Given the description of an element on the screen output the (x, y) to click on. 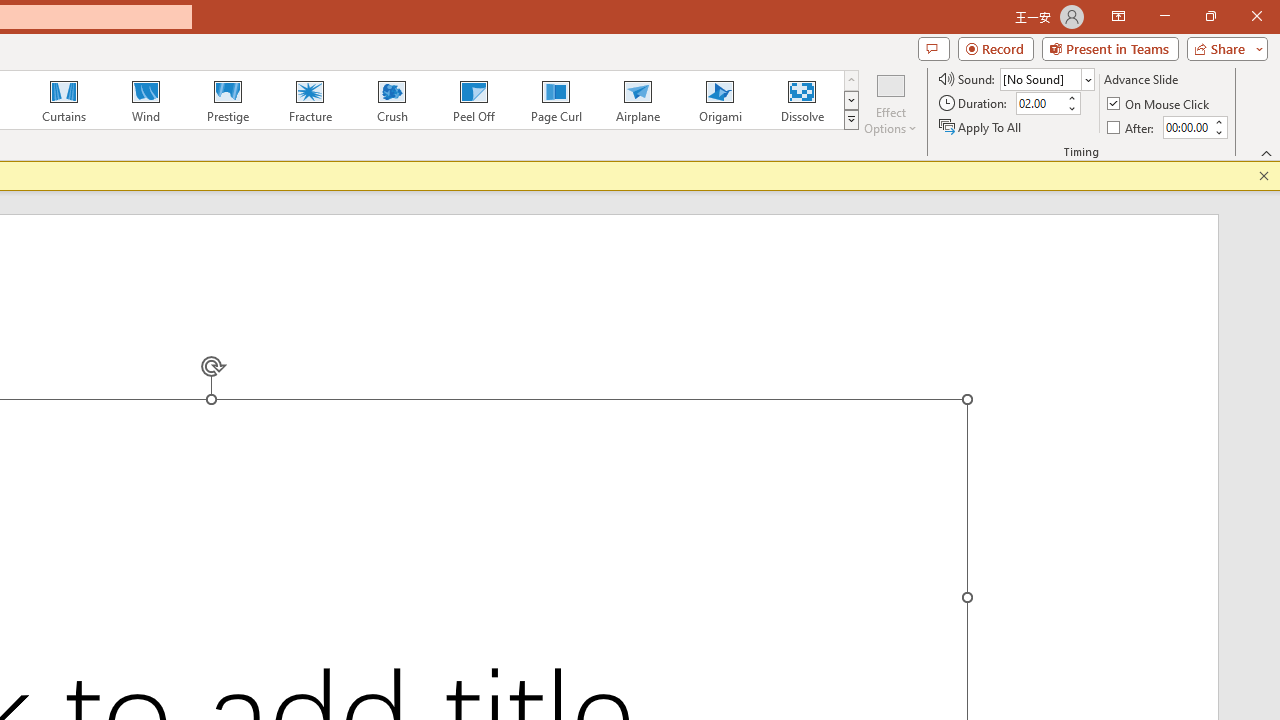
Duration (1039, 103)
On Mouse Click (1159, 103)
Sound (1046, 78)
Crush (391, 100)
Fracture (309, 100)
Prestige (227, 100)
Less (1218, 132)
Peel Off (473, 100)
Origami (719, 100)
More (1218, 121)
